Given the description of an element on the screen output the (x, y) to click on. 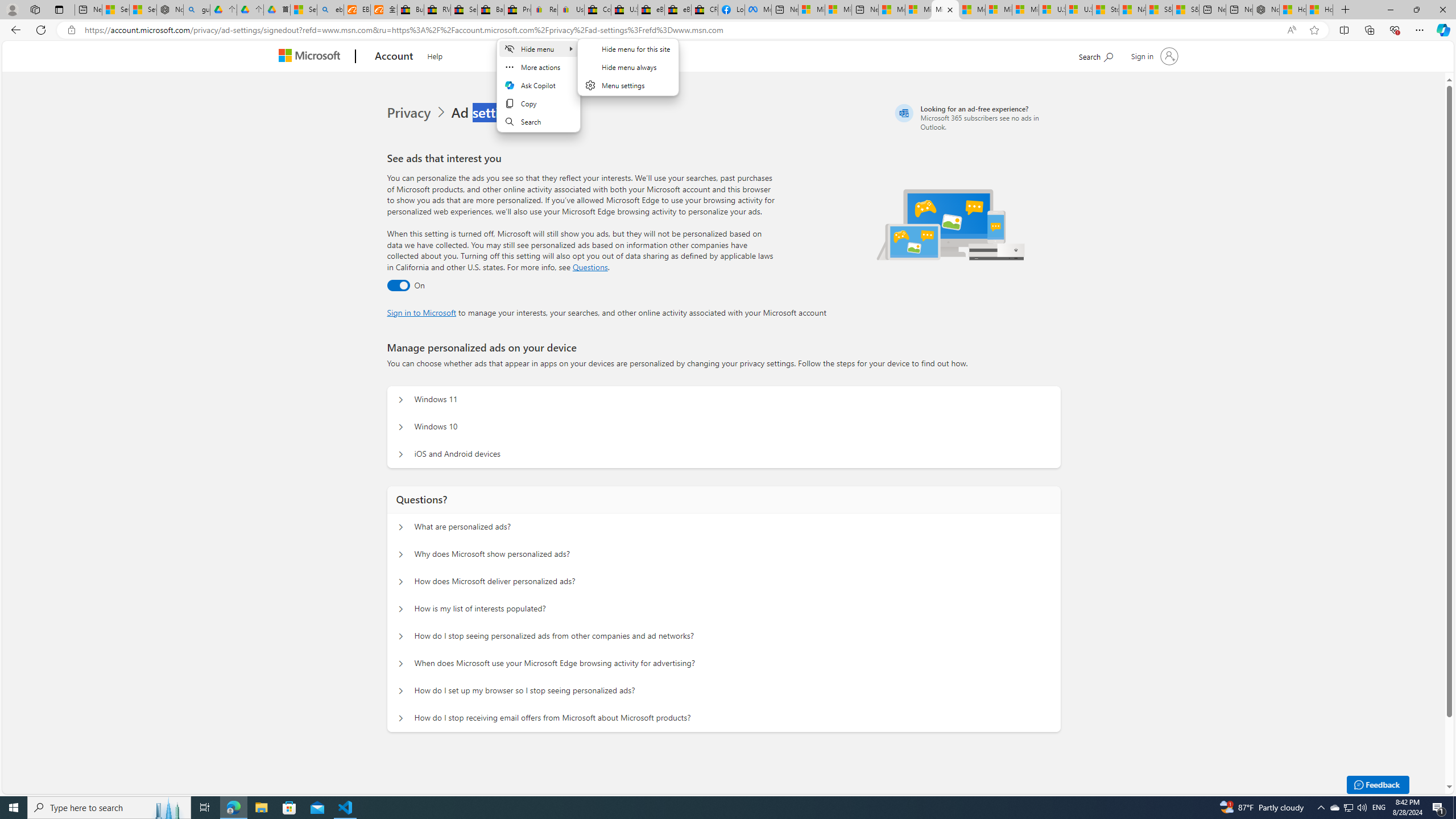
Workspaces (34, 9)
More actions (537, 67)
Close tab (949, 9)
Add this page to favorites (Ctrl+D) (1314, 29)
Account (394, 56)
Questions? What are personalized ads? (401, 526)
App bar (728, 29)
Read aloud this page (Ctrl+Shift+U) (1291, 29)
Restore (1416, 9)
